Given the description of an element on the screen output the (x, y) to click on. 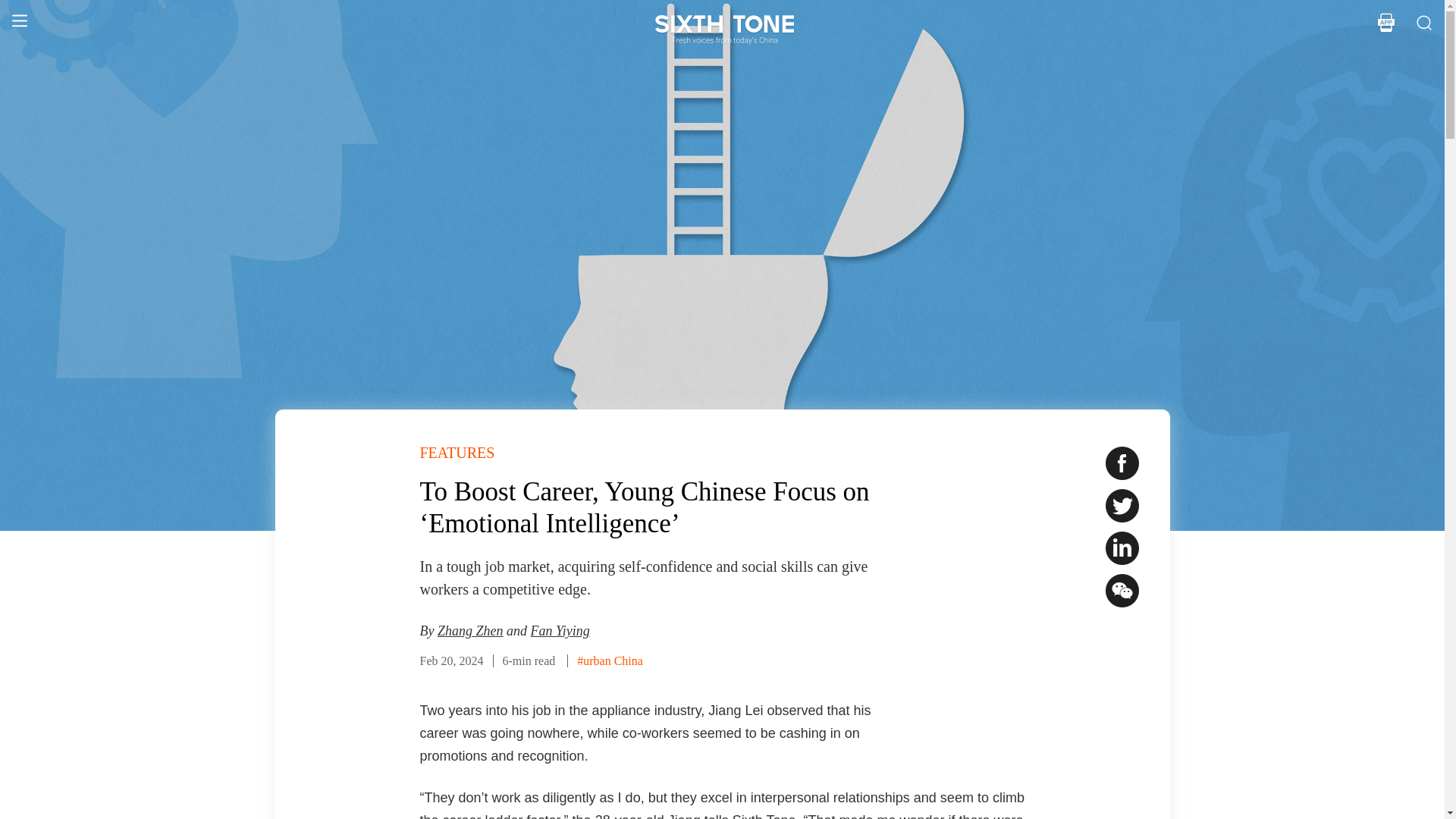
Fan Yiying (560, 630)
FEATURES (457, 452)
Zhang Zhen (470, 630)
